Given the description of an element on the screen output the (x, y) to click on. 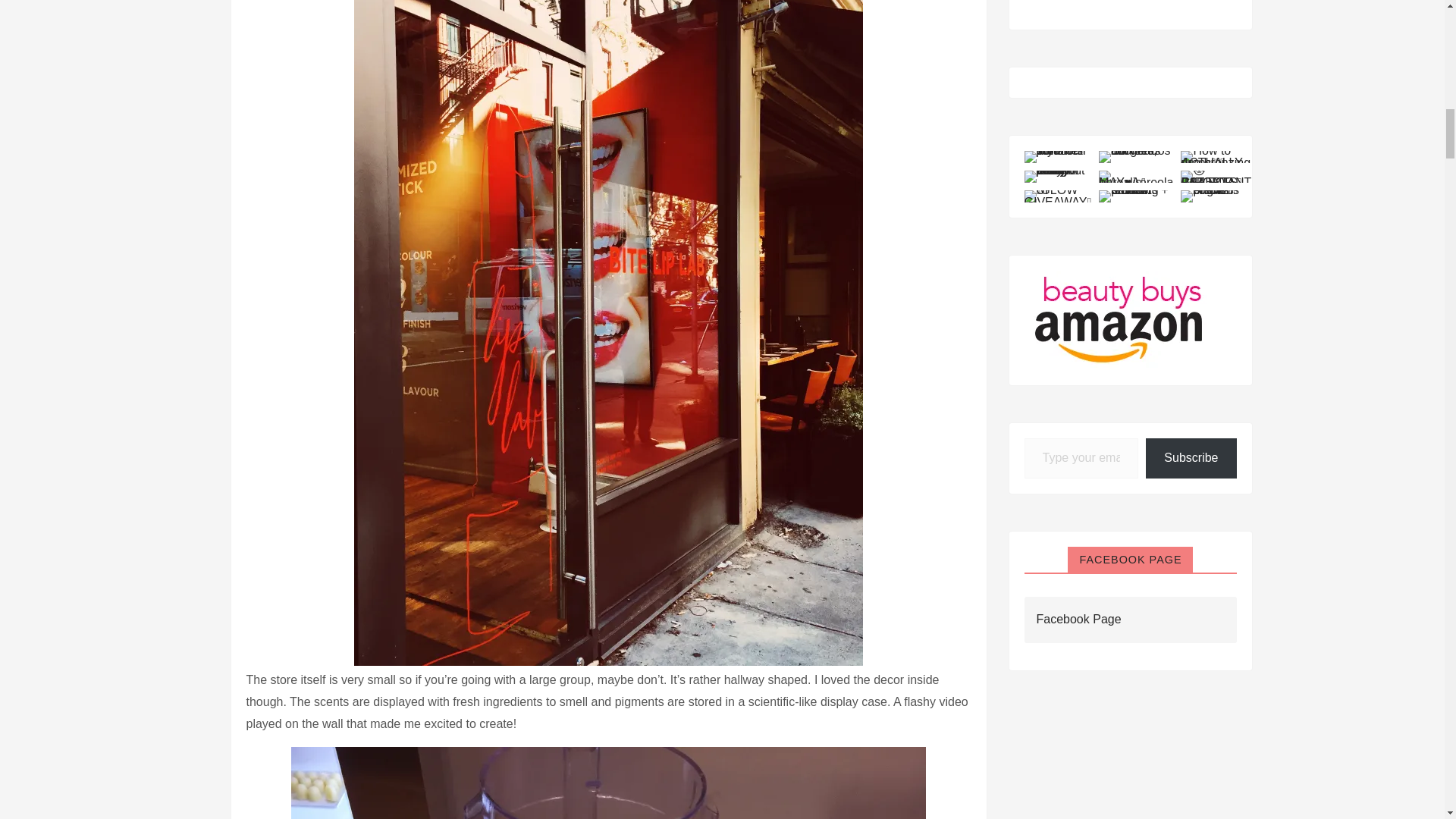
Please fill in this field. (1080, 458)
